Given the description of an element on the screen output the (x, y) to click on. 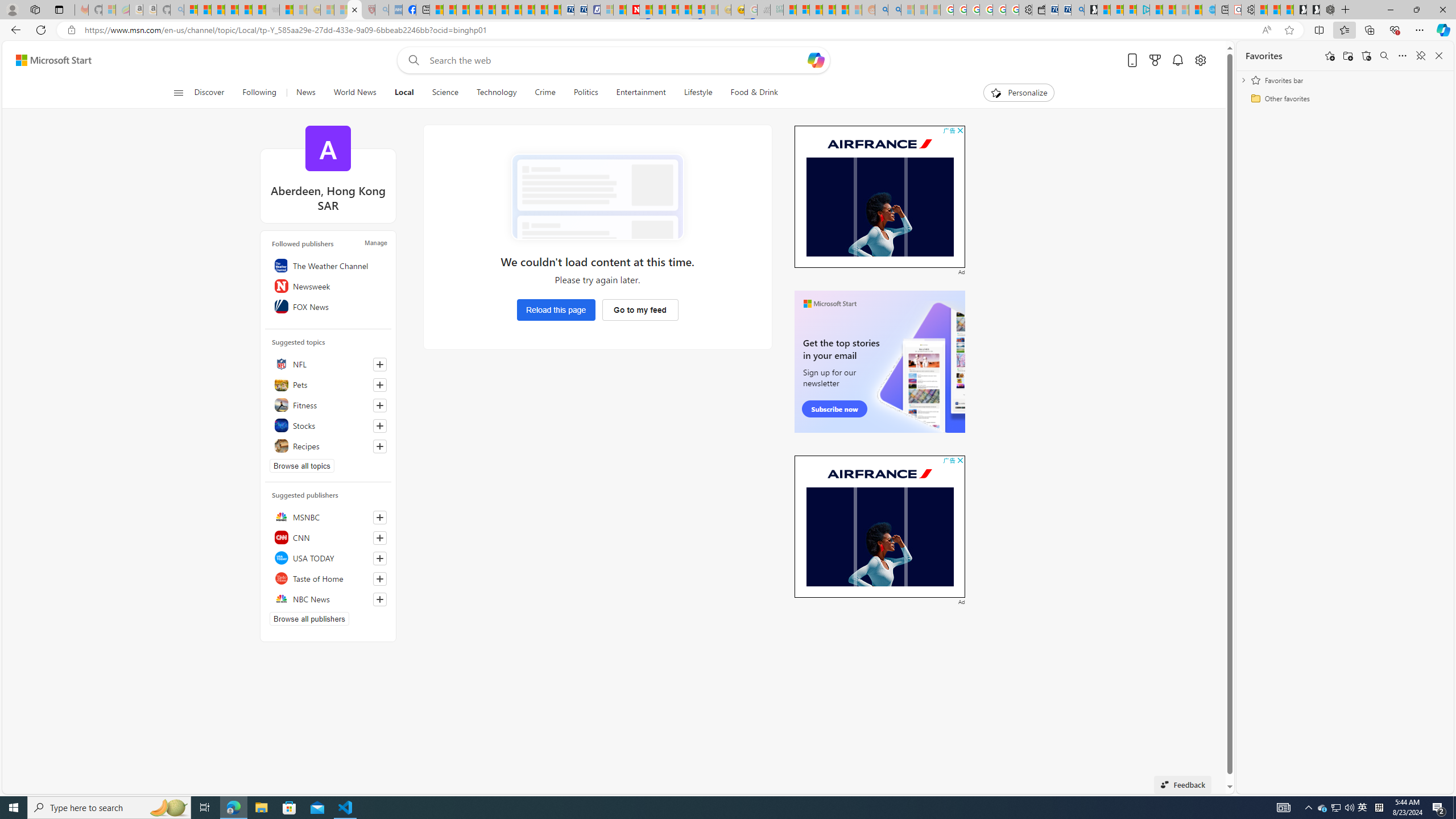
Pets (327, 384)
CNN (327, 537)
Restore deleted favorites (1366, 55)
Bing Real Estate - Home sales and rental listings (1077, 9)
Go to my feed (639, 309)
Subscribe now (834, 408)
